Given the description of an element on the screen output the (x, y) to click on. 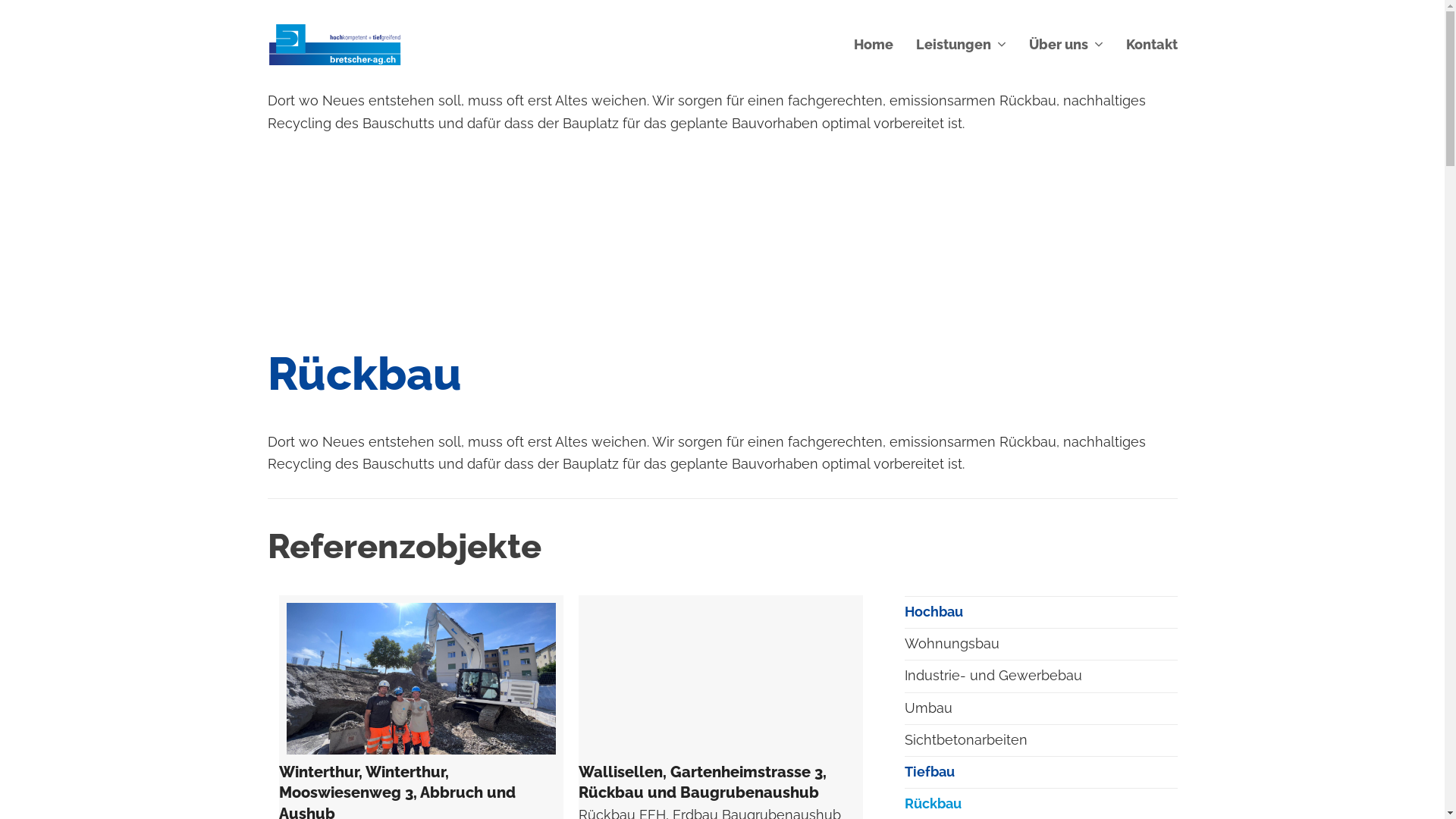
Sichtbetonarbeiten Element type: text (1039, 739)
Umbau Element type: text (1039, 707)
Hochbau Element type: text (1039, 611)
Wohnungsbau Element type: text (1039, 643)
Leistungen Element type: text (959, 44)
Tiefbau Element type: text (1039, 771)
Kontakt Element type: text (1151, 44)
Home Element type: text (872, 44)
Industrie- und Gewerbebau Element type: text (1039, 675)
Winterthur, Mooswiesenweg 3, Abbruch und Aushub Element type: hover (420, 678)
